Given the description of an element on the screen output the (x, y) to click on. 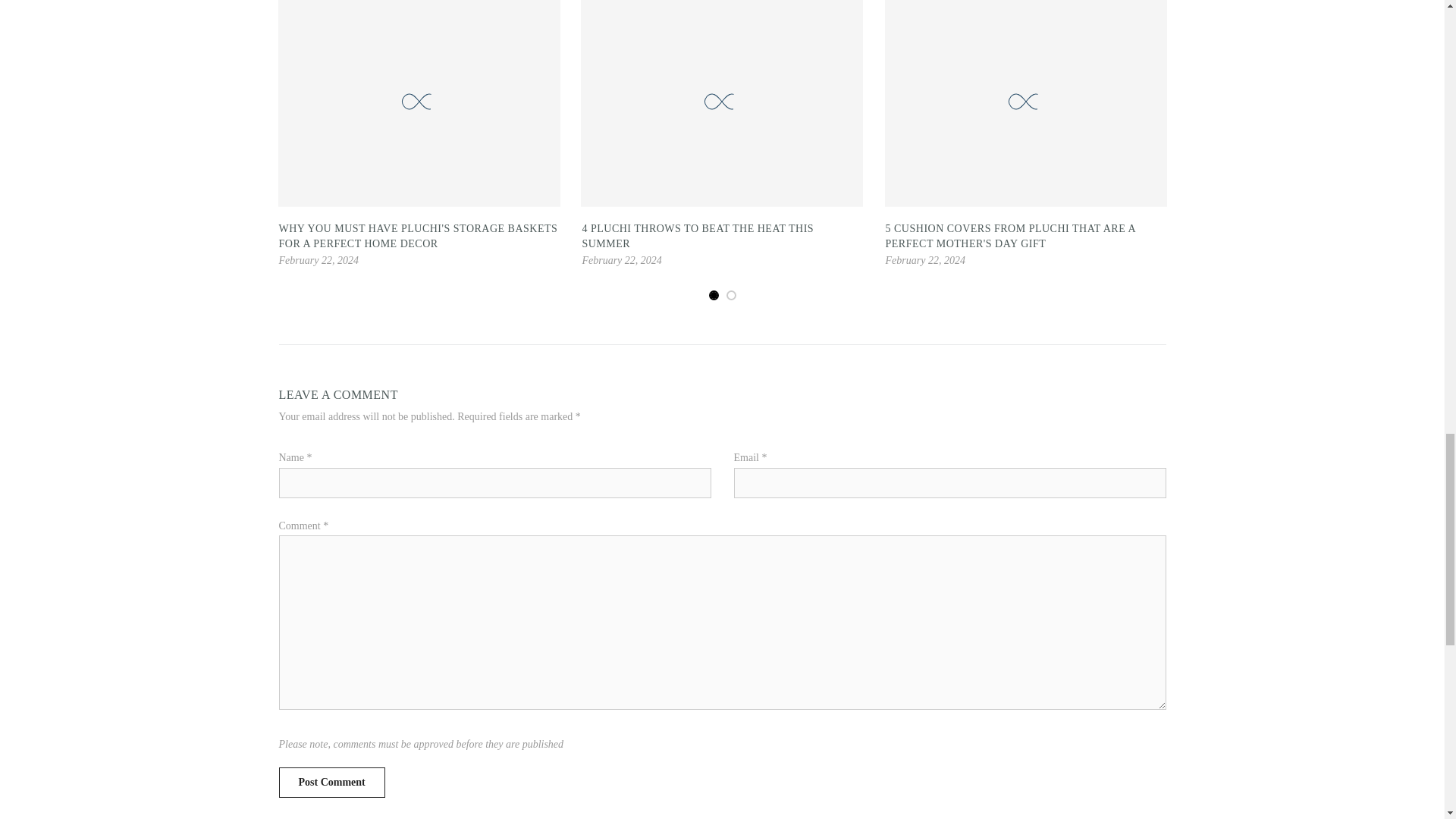
Post Comment (332, 782)
4 PLUCHI THROWS TO BEAT THE HEAT THIS SUMMER (696, 235)
